Given the description of an element on the screen output the (x, y) to click on. 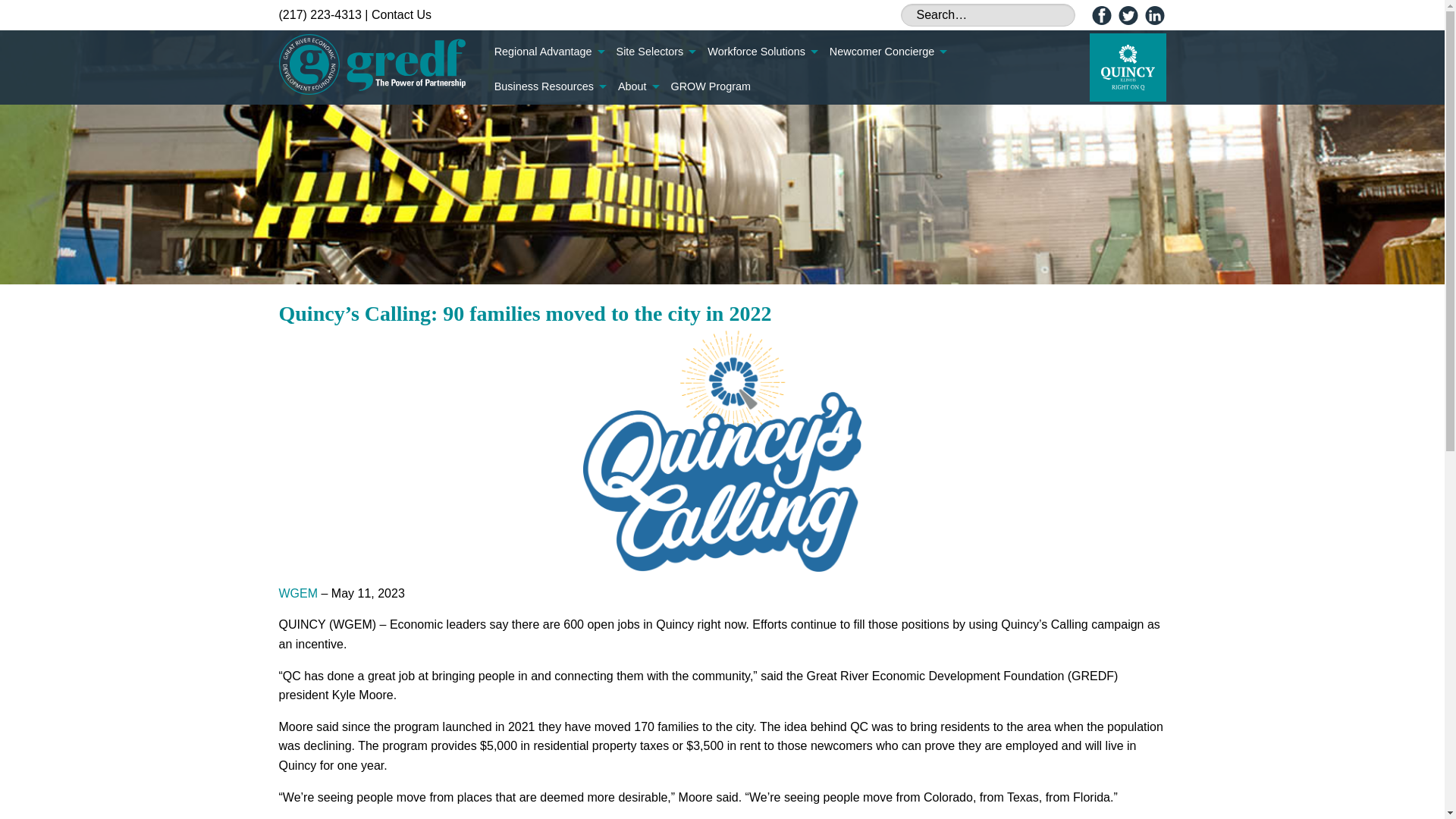
Newcomer Concierge (888, 51)
Workforce Solutions (762, 51)
About (638, 86)
Regional Advantage (548, 51)
Contact Us (400, 14)
Business Resources (549, 86)
Site Selectors (655, 51)
